Given the description of an element on the screen output the (x, y) to click on. 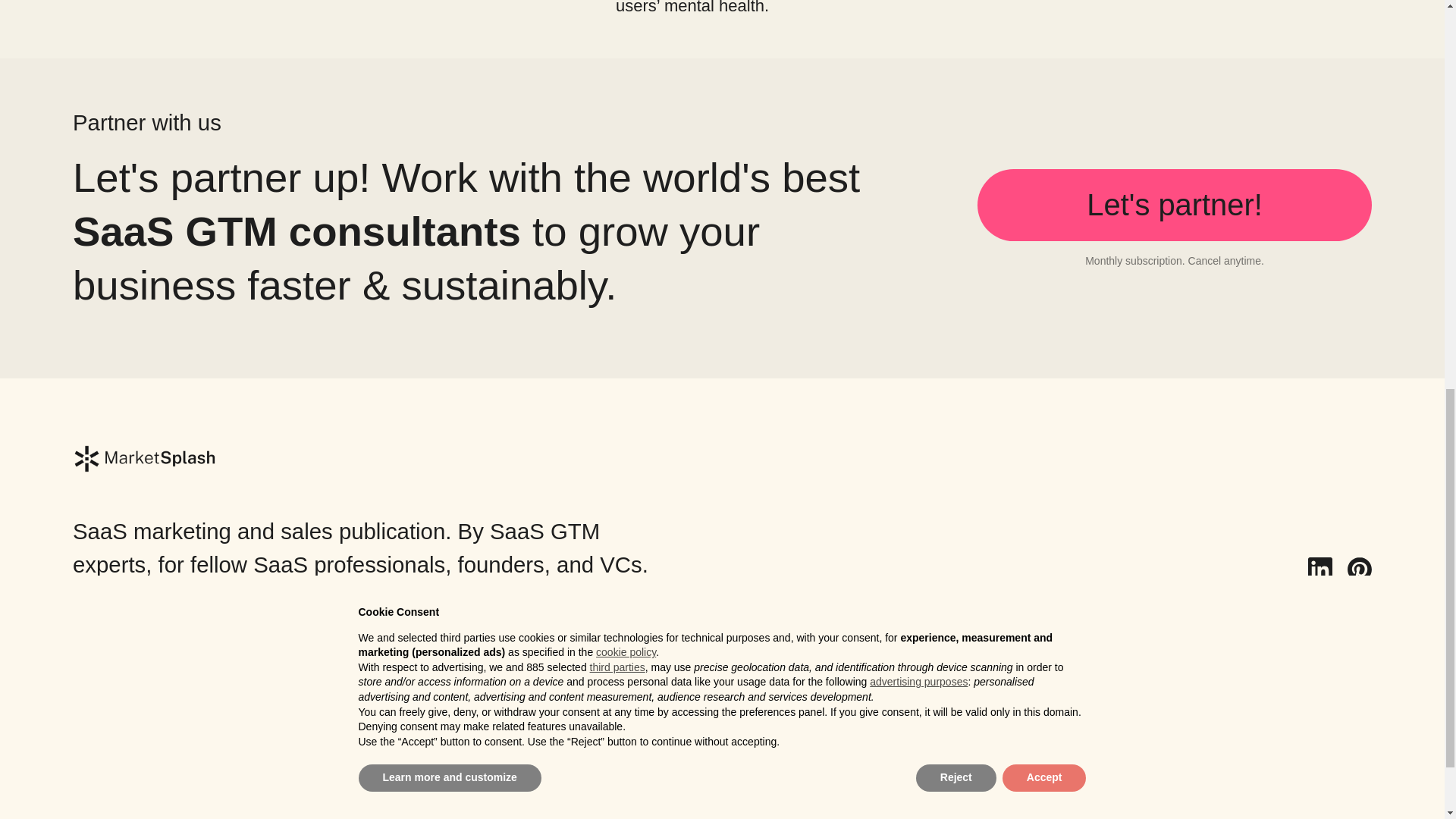
Privacy Policy (124, 727)
Terms Of Service (136, 758)
Cookie Policy (122, 790)
Let's partner! (1173, 204)
